Given the description of an element on the screen output the (x, y) to click on. 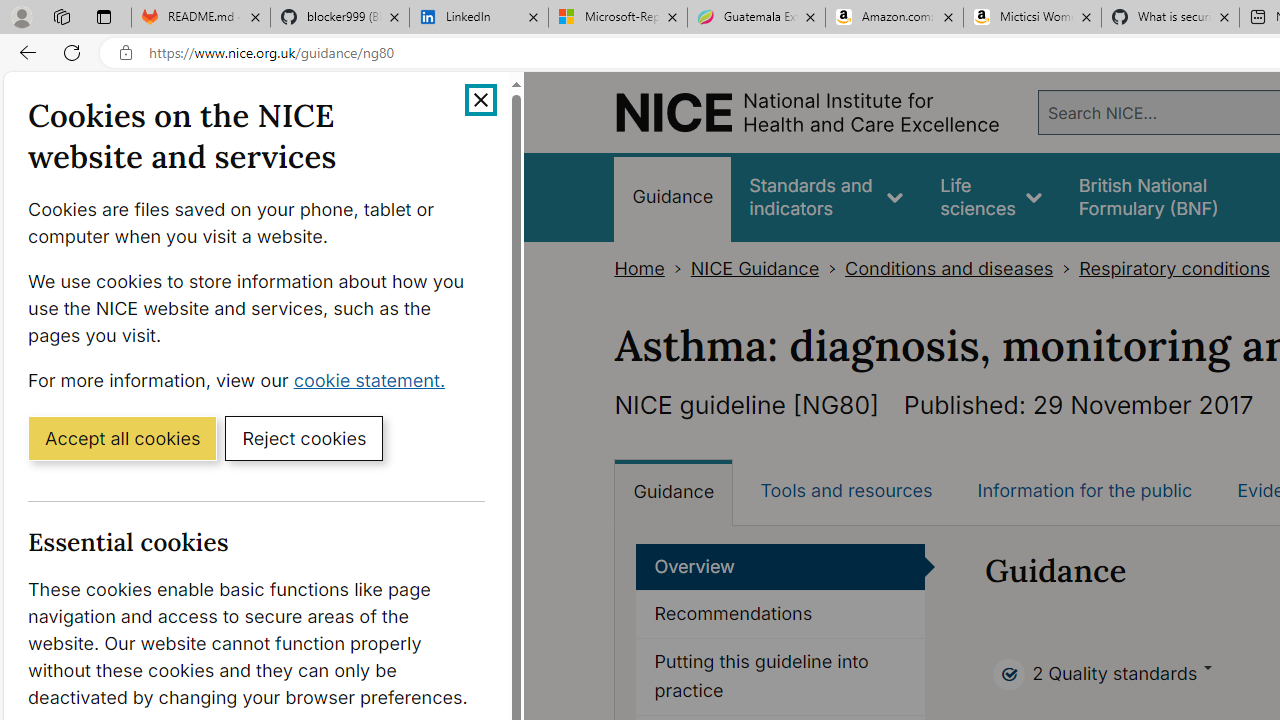
Overview (781, 566)
Home> (652, 268)
Information for the public (1084, 490)
false (1167, 196)
Reject cookies (304, 437)
